Given the description of an element on the screen output the (x, y) to click on. 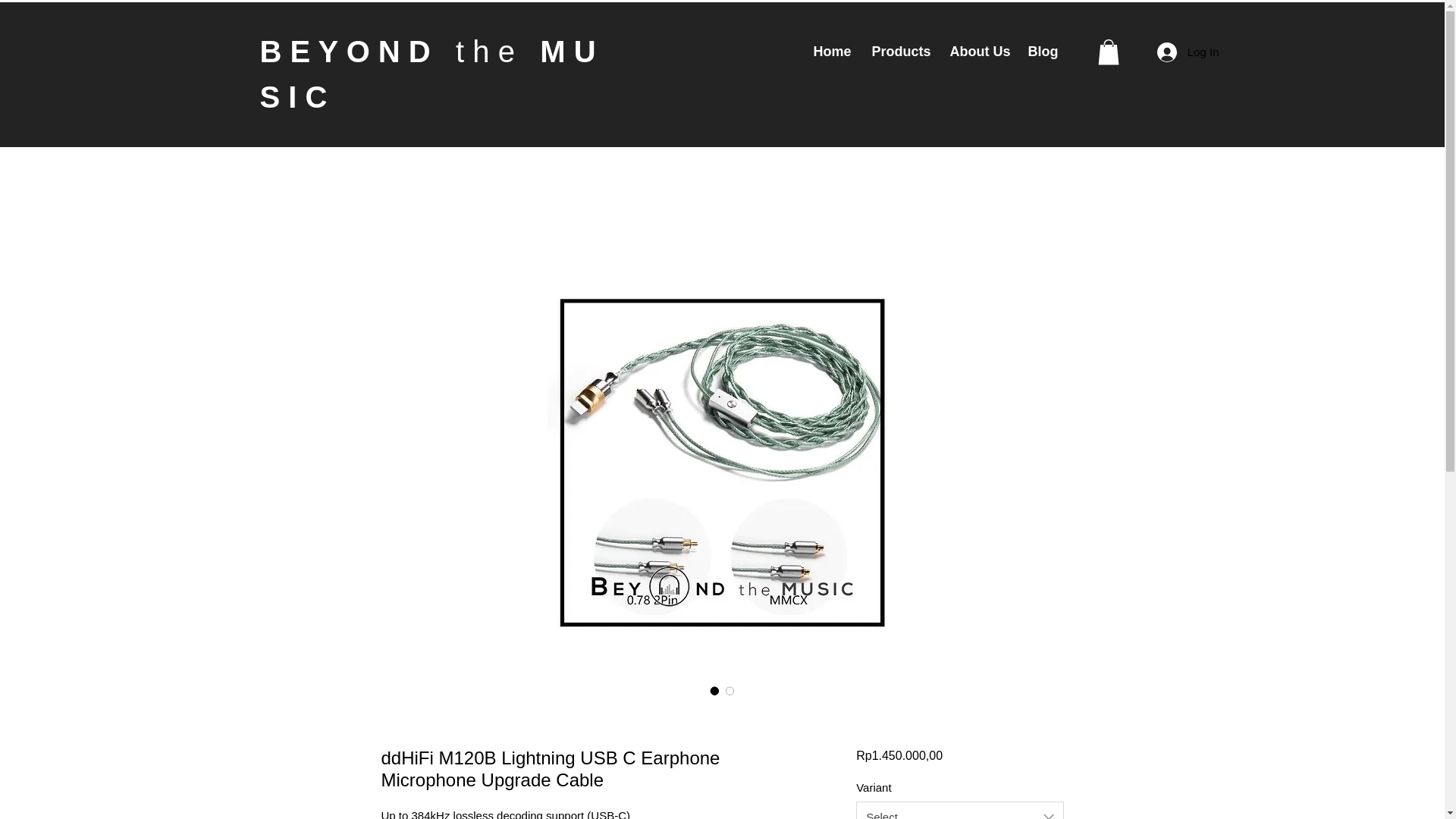
Log In (1188, 51)
Home (831, 51)
About Us (977, 51)
Select (959, 810)
Blog (1040, 51)
Products (898, 51)
